Given the description of an element on the screen output the (x, y) to click on. 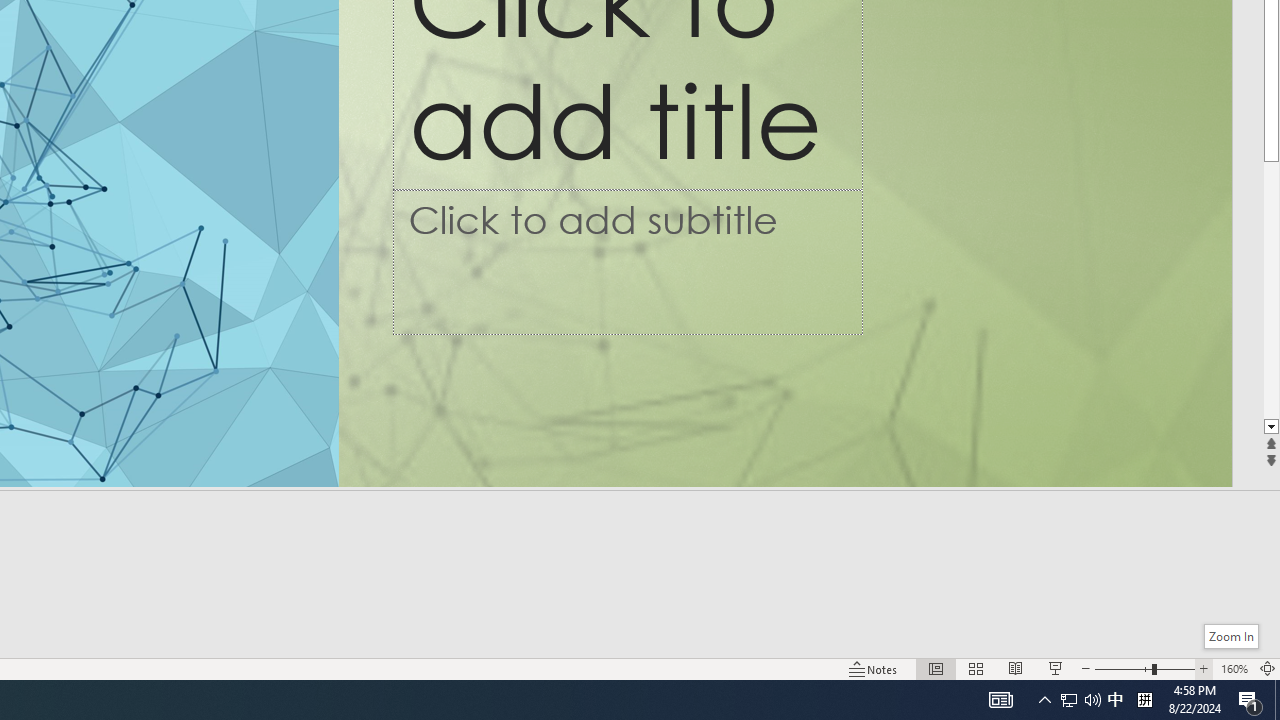
Zoom 160% (1234, 668)
